Given the description of an element on the screen output the (x, y) to click on. 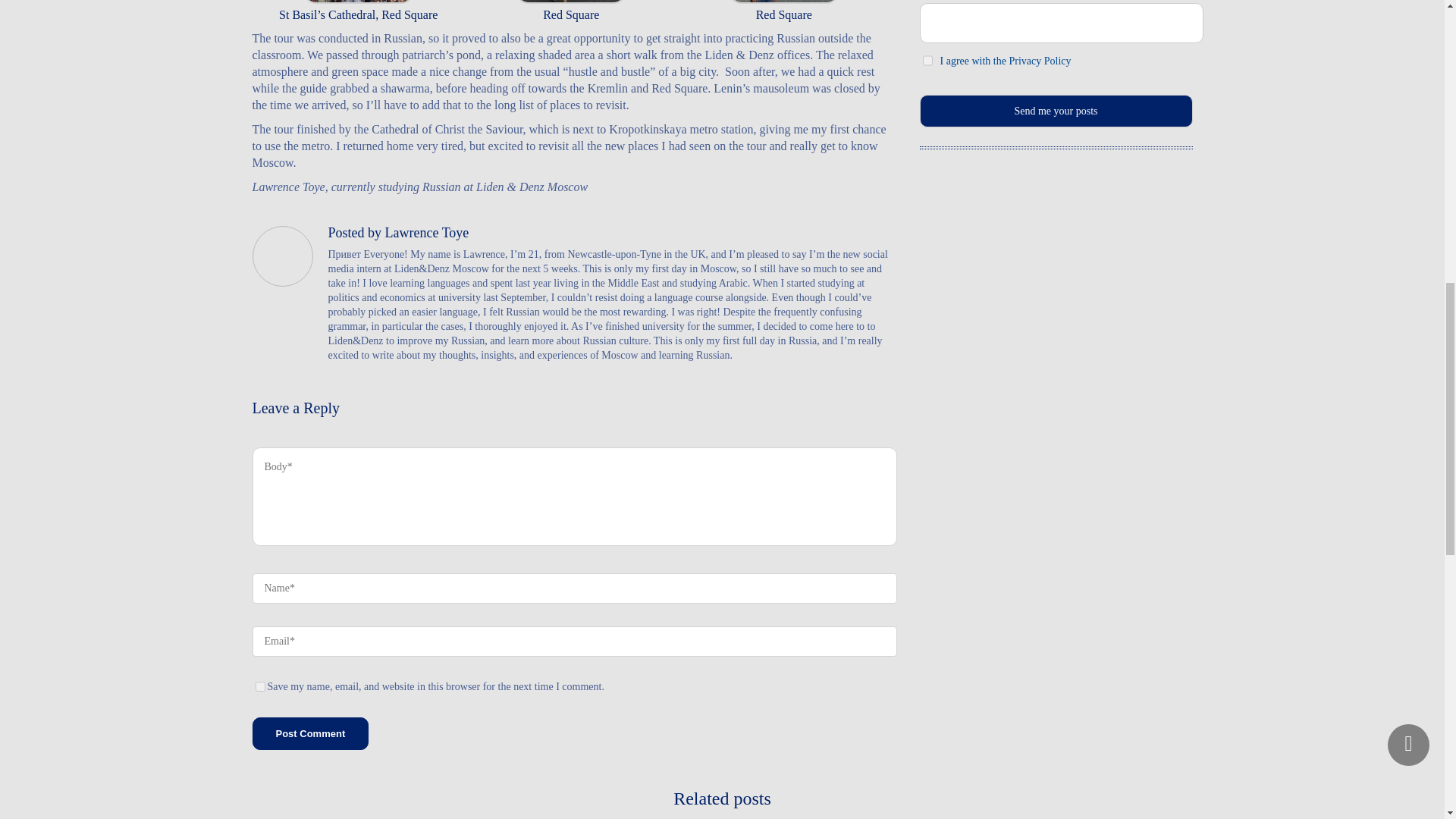
Post Comment (309, 733)
yes (259, 686)
Send me your posts (1055, 111)
